Given the description of an element on the screen output the (x, y) to click on. 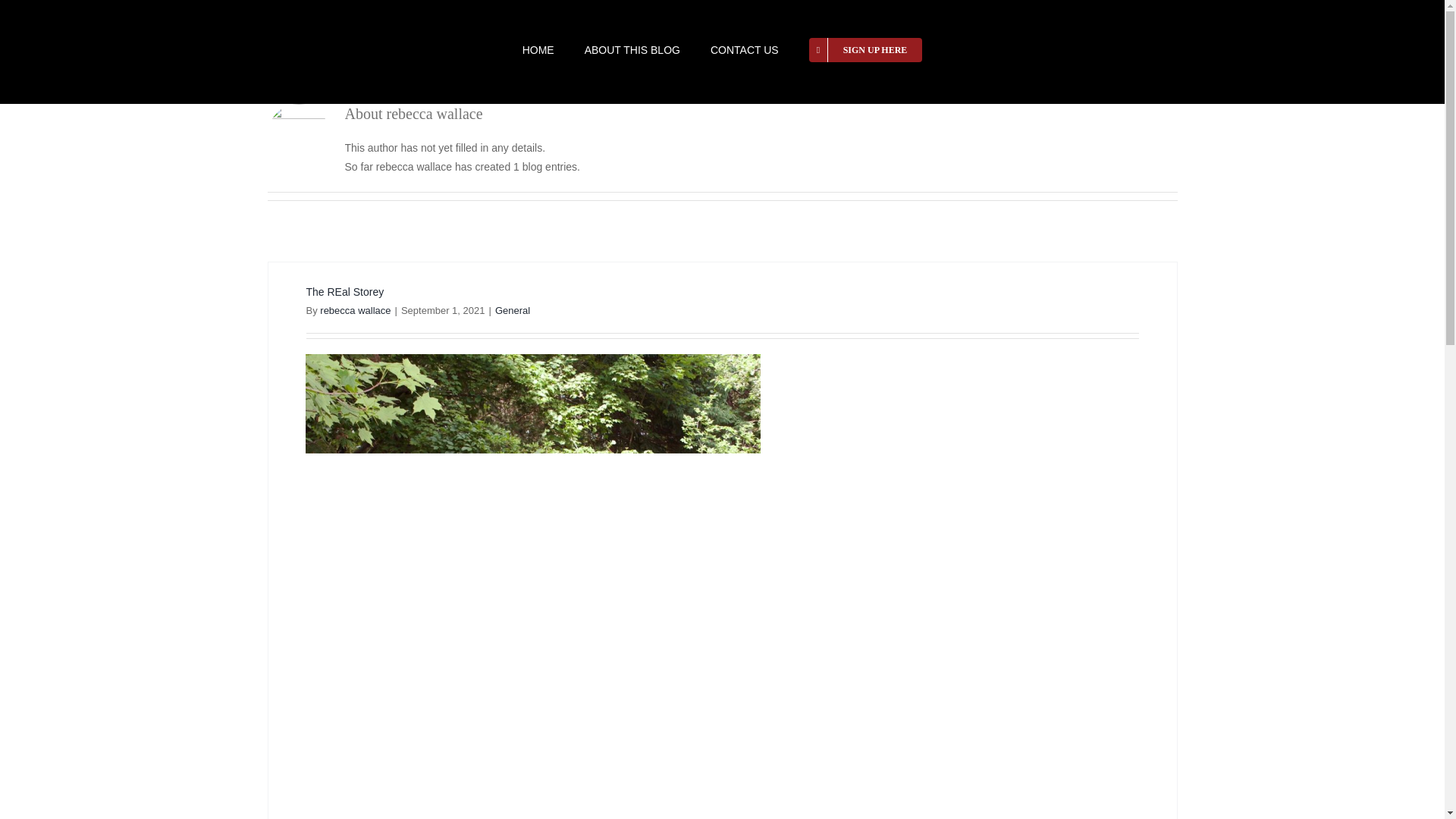
The REal Storey (344, 291)
General (512, 310)
SIGN UP HERE (866, 49)
rebecca wallace (355, 310)
Posts by rebecca wallace (355, 310)
ABOUT THIS BLOG (632, 49)
